Given the description of an element on the screen output the (x, y) to click on. 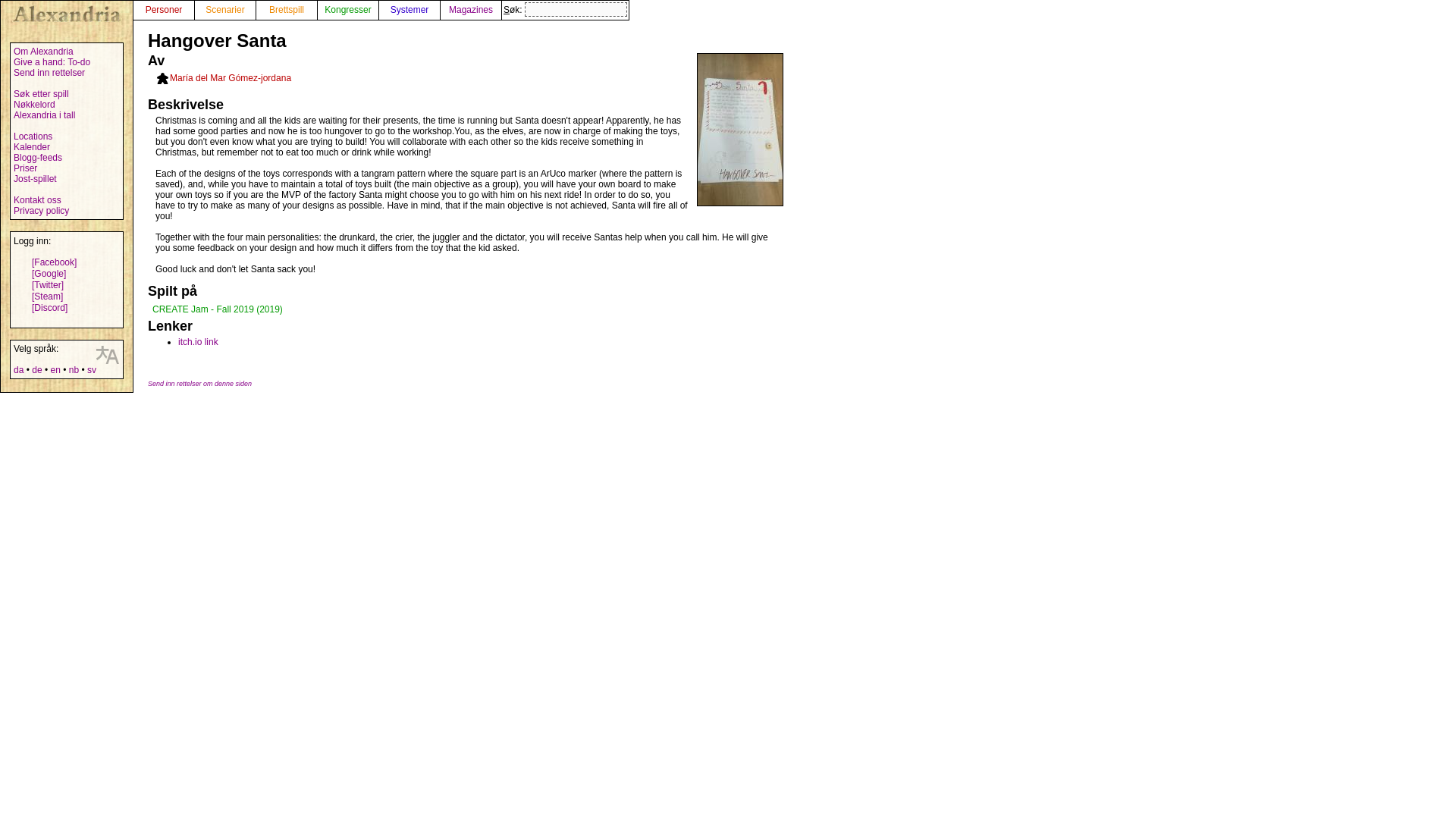
22. - 24. november 2019 (217, 308)
Privacy policy (40, 210)
Magazines (470, 9)
Alexandria (66, 14)
Kalender (31, 146)
en (54, 369)
nb (73, 369)
itch.io link (197, 341)
Systemer (408, 9)
Om Alexandria (43, 50)
da (18, 369)
Alexandria i tall (44, 114)
de (37, 369)
dansk (18, 369)
Locations (32, 136)
